Given the description of an element on the screen output the (x, y) to click on. 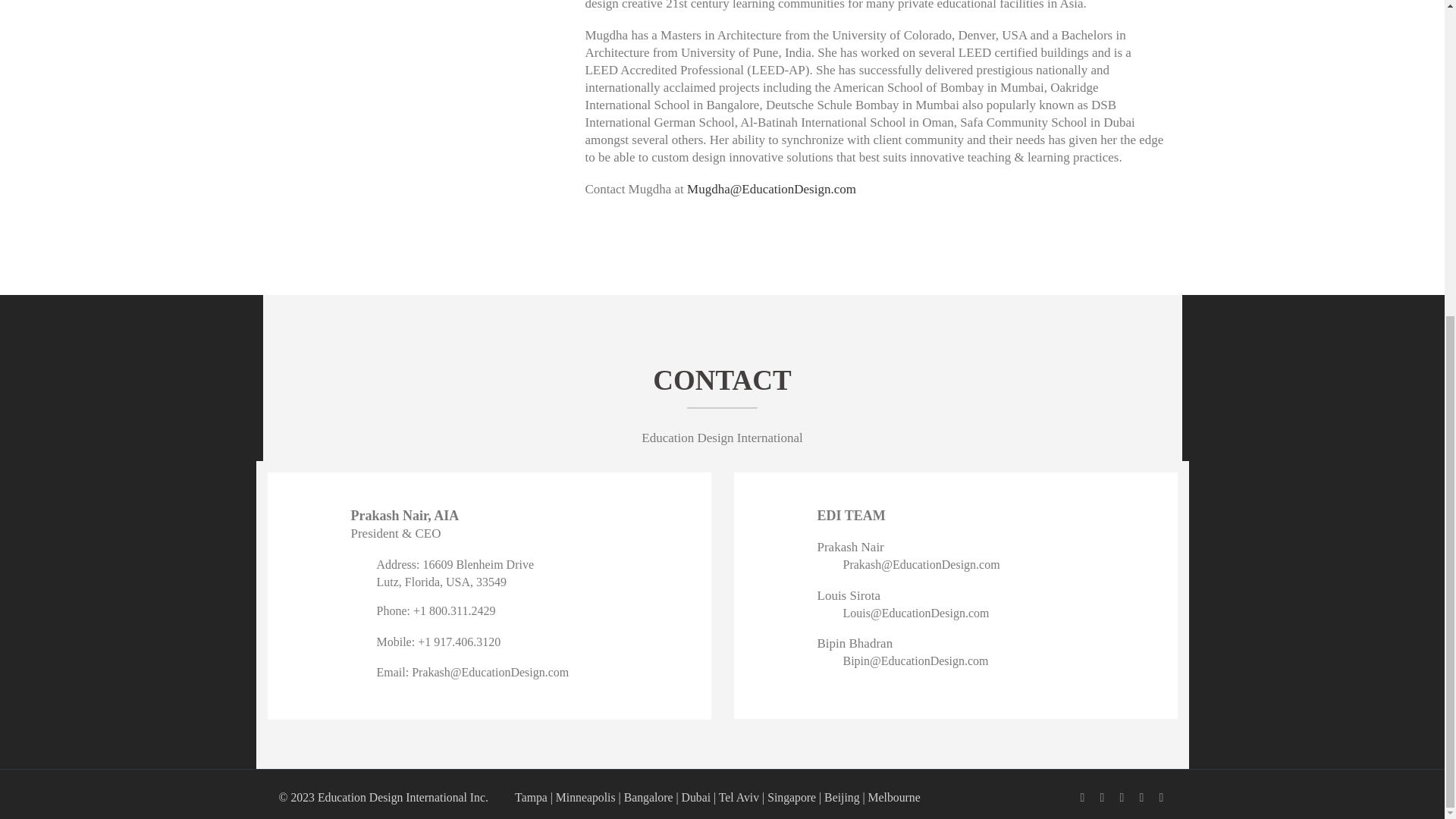
YouTube (1161, 797)
Twitter (1122, 797)
Instagram (1141, 797)
LinkedIn (1102, 797)
Facebook (1083, 797)
